Given the description of an element on the screen output the (x, y) to click on. 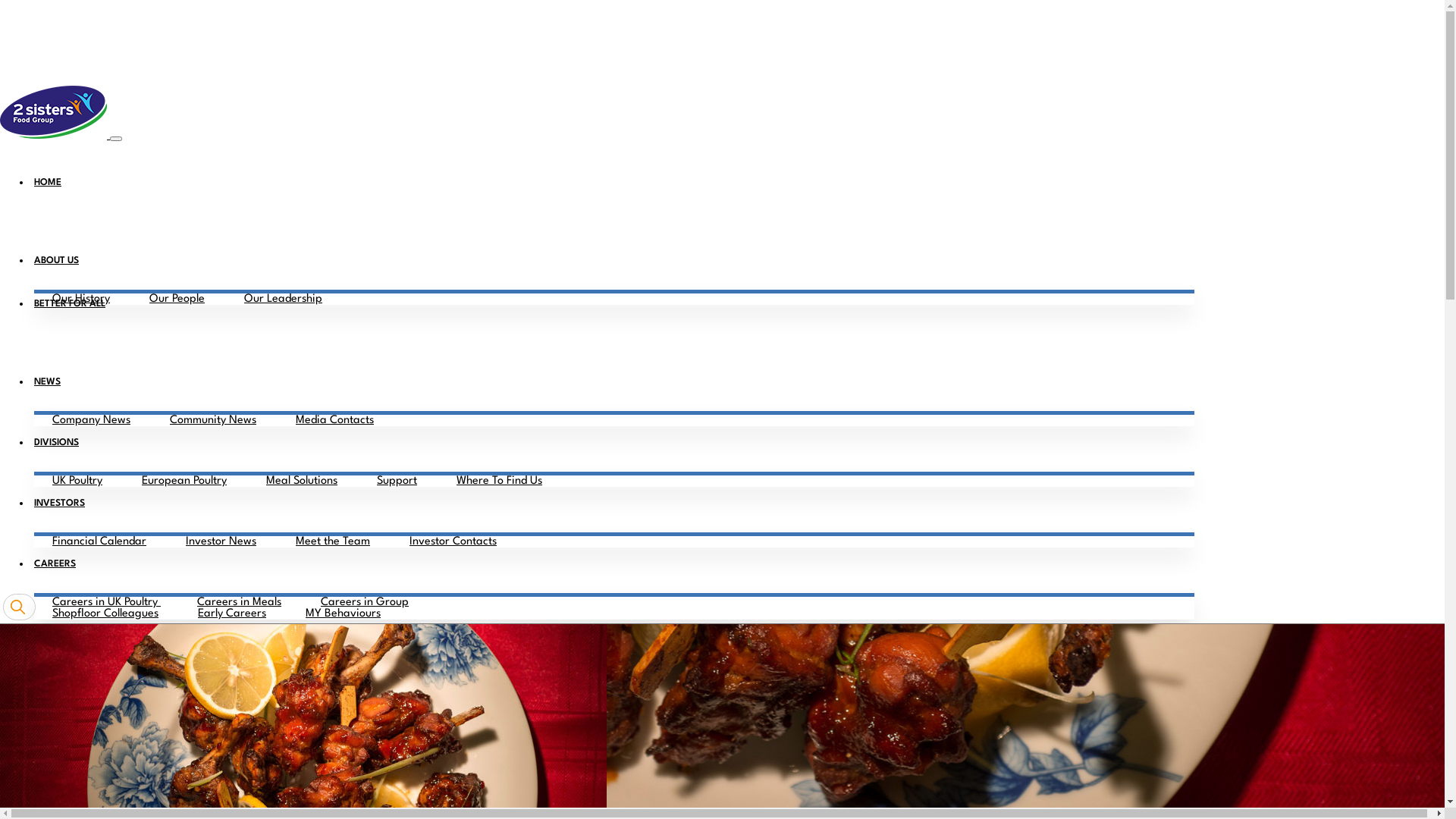
European Poultry Element type: text (183, 481)
Careers in UK Poultry Element type: text (106, 602)
Community News Element type: text (212, 420)
Meal Solutions Element type: text (301, 481)
Our History Element type: text (81, 299)
Investor News Element type: text (220, 541)
MY Behaviours Element type: text (342, 613)
UK Poultry Element type: text (77, 481)
Investor Contacts Element type: text (452, 541)
CAREERS Element type: text (54, 564)
Meet the Team Element type: text (332, 541)
DIVISIONS Element type: text (56, 442)
Early Careers Element type: text (231, 613)
Where To Find Us Element type: text (499, 481)
Shopfloor Colleagues Element type: text (105, 613)
Careers in Meals Element type: text (238, 602)
NEWS Element type: text (47, 382)
Media Contacts Element type: text (334, 420)
Company News Element type: text (91, 420)
Support Element type: text (396, 481)
Careers in Group Element type: text (364, 602)
BETTER FOR ALL Element type: text (69, 303)
Our People Element type: text (176, 299)
INVESTORS Element type: text (59, 503)
Financial Calendar Element type: text (99, 541)
Our Leadership Element type: text (282, 299)
HOME
(CURRENT) Element type: text (47, 182)
ABOUT US Element type: text (56, 260)
